Given the description of an element on the screen output the (x, y) to click on. 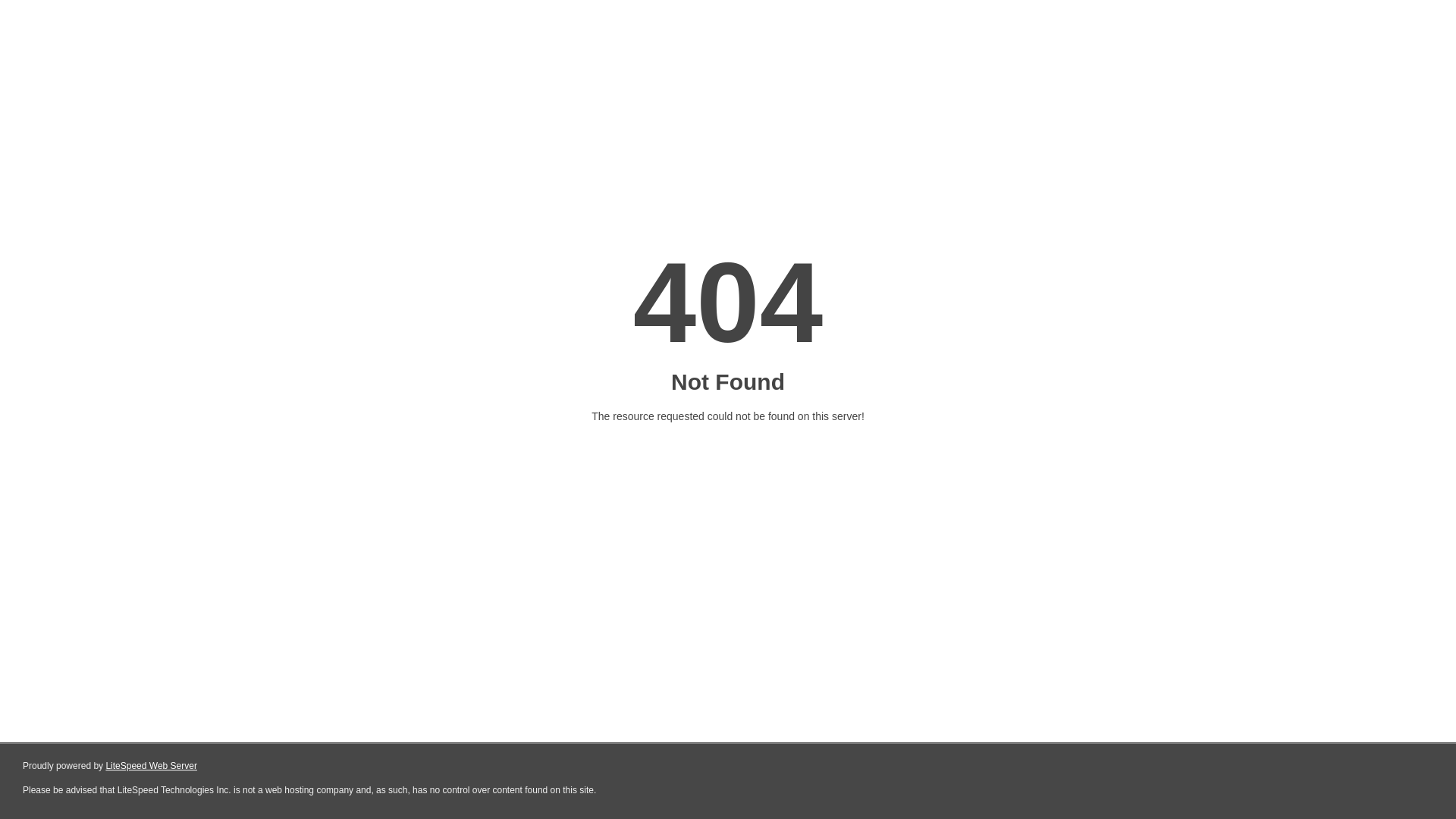
LiteSpeed Web Server Element type: text (151, 765)
